Given the description of an element on the screen output the (x, y) to click on. 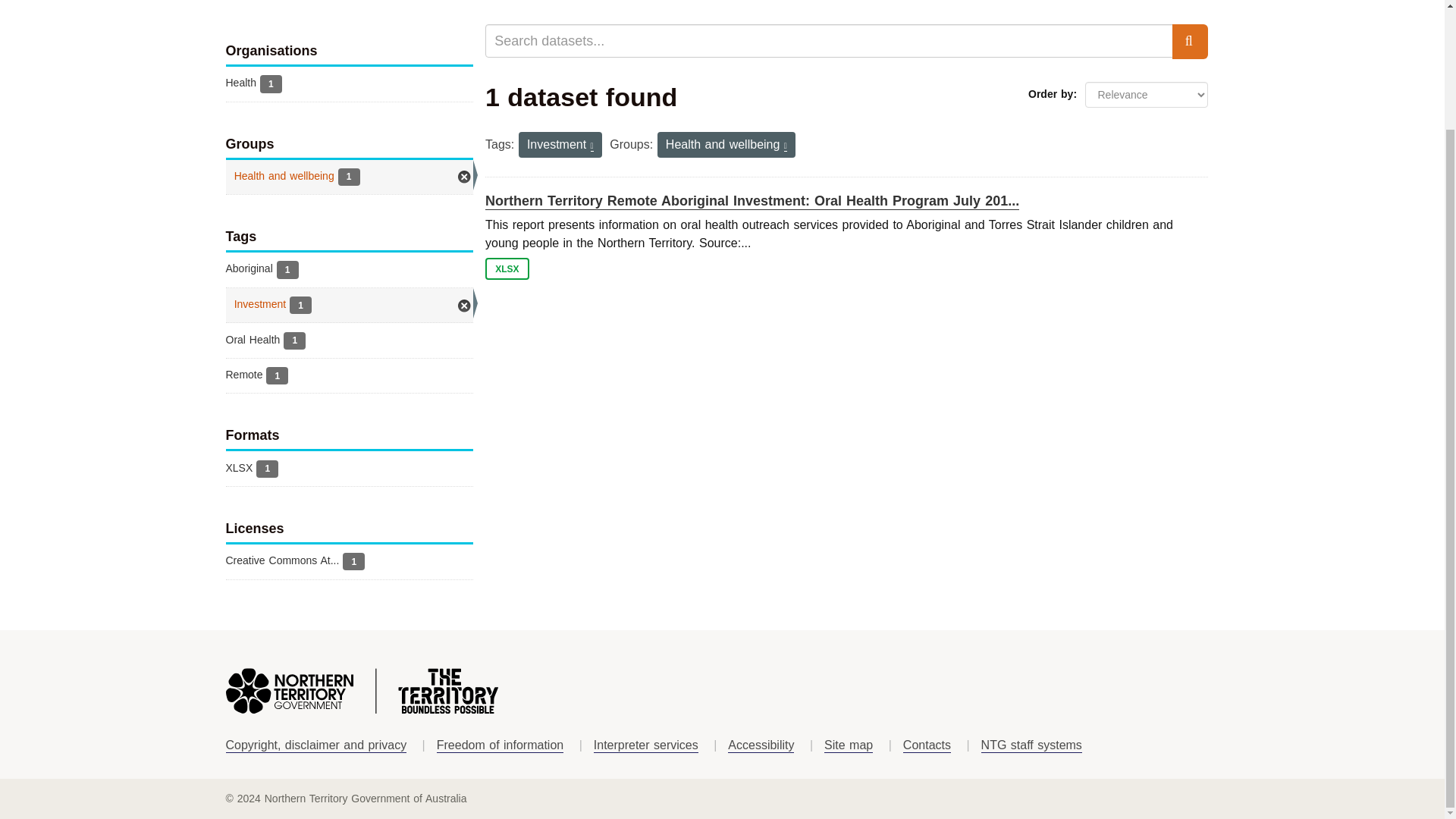
Health 1 (349, 83)
Remote 1 (349, 375)
Contacts (926, 745)
Interpreter services (646, 745)
Site map (848, 745)
NTG staff systems (1031, 745)
Oral Health 1 (349, 339)
Accessibility (760, 745)
Investment 1 (349, 305)
Copyright, disclaimer and privacy (316, 745)
Creative Commons Attribution (349, 561)
Aboriginal 1 (349, 269)
Creative Commons At... 1 (349, 561)
